Given the description of an element on the screen output the (x, y) to click on. 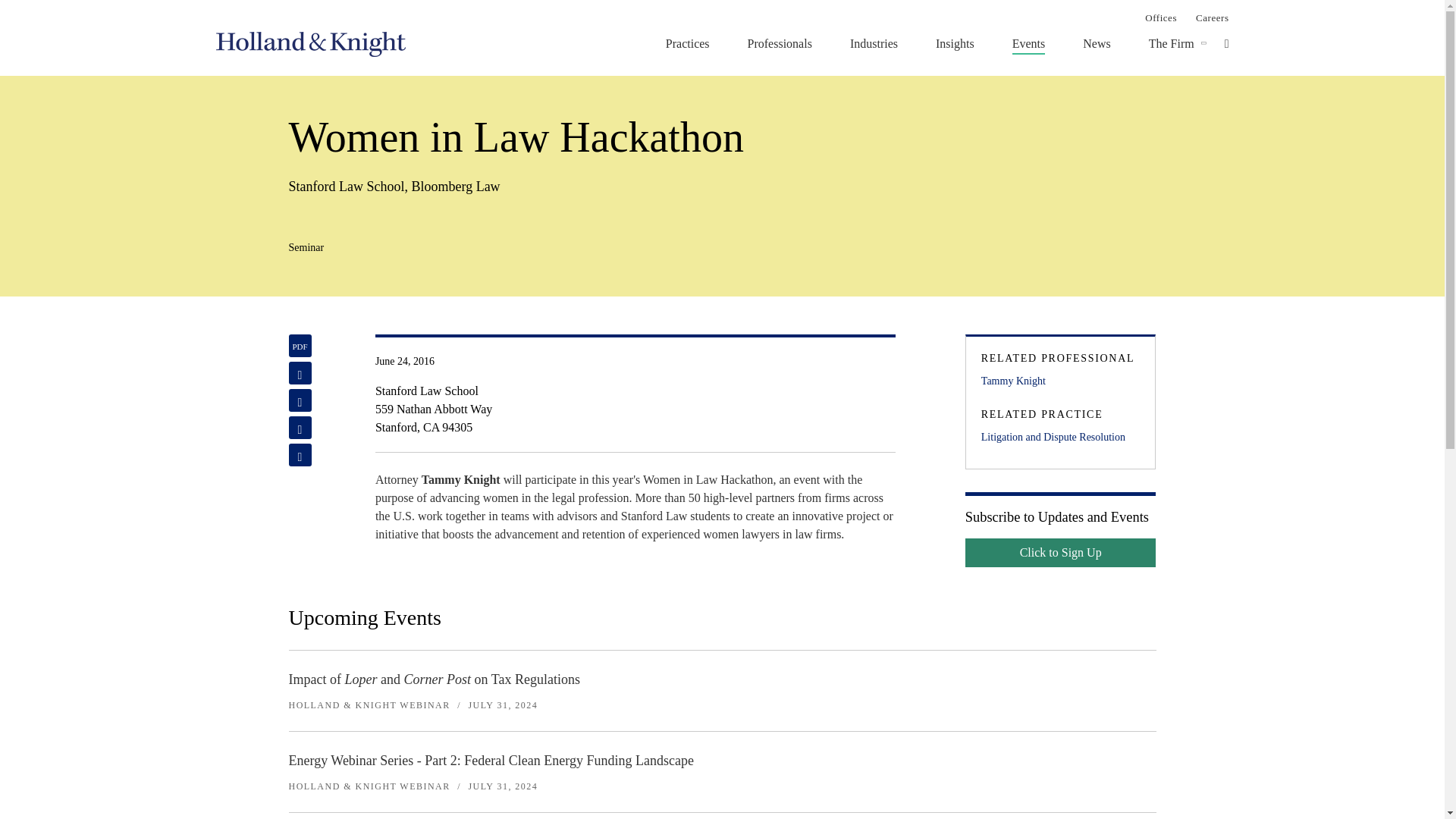
Events (1028, 42)
Click to Sign Up (1060, 552)
Professionals (780, 42)
The Firm (1170, 43)
News (1096, 42)
Insights (955, 42)
Tammy Knight (1060, 381)
Offices (1160, 16)
Careers (1211, 16)
Litigation and Dispute Resolution (1060, 437)
Industries (874, 42)
Practices (687, 42)
